Given the description of an element on the screen output the (x, y) to click on. 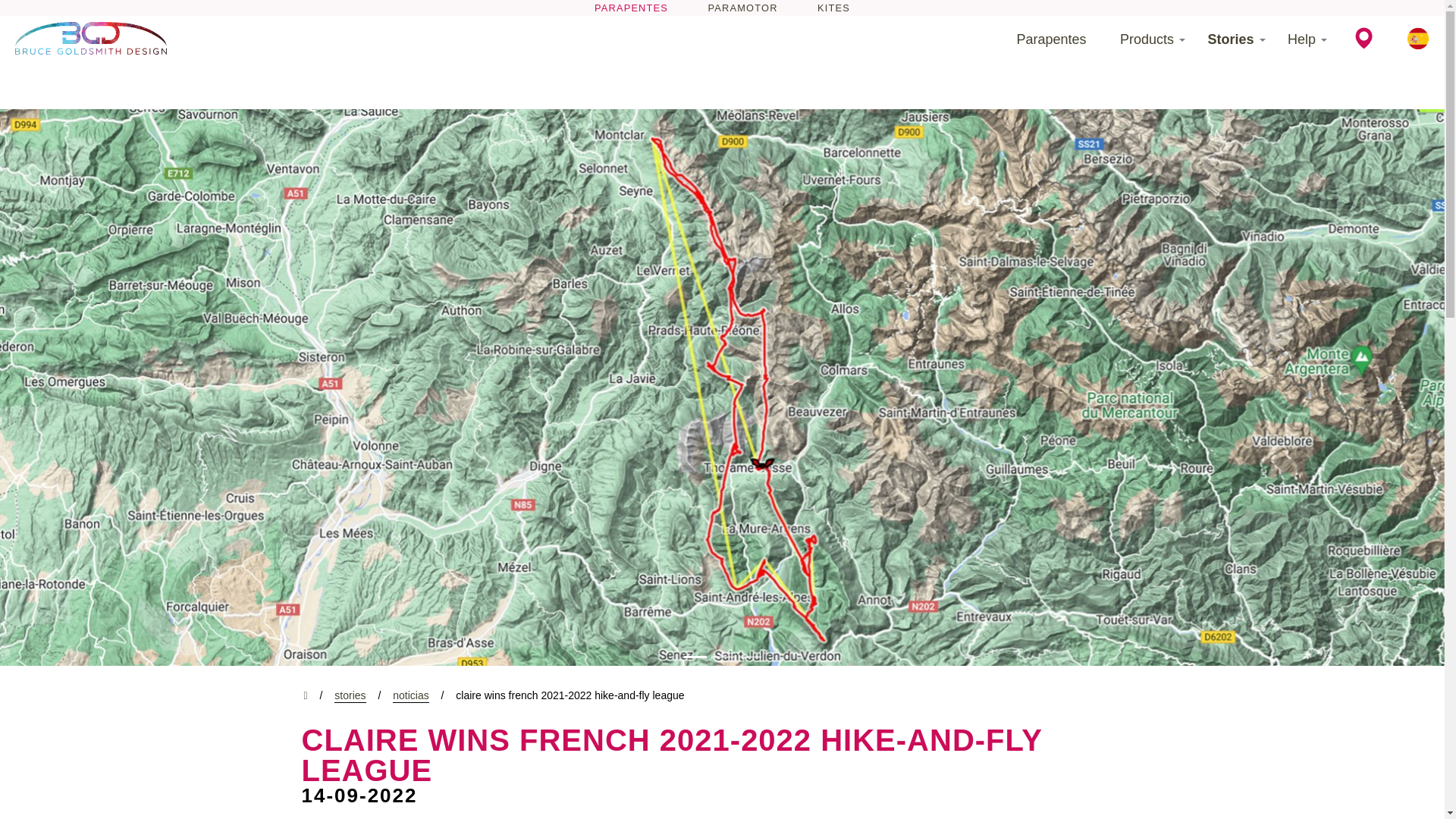
PARAPENTES (631, 7)
KITES (833, 7)
noticias (410, 695)
BGD Paramotor (742, 7)
Airwave Kiteboarding (833, 7)
BGD Parapentes (631, 7)
PARAMOTOR (742, 7)
Parapentes (1051, 38)
Bruce Goldsmith Design (90, 38)
Distribuidores (1364, 37)
